Given the description of an element on the screen output the (x, y) to click on. 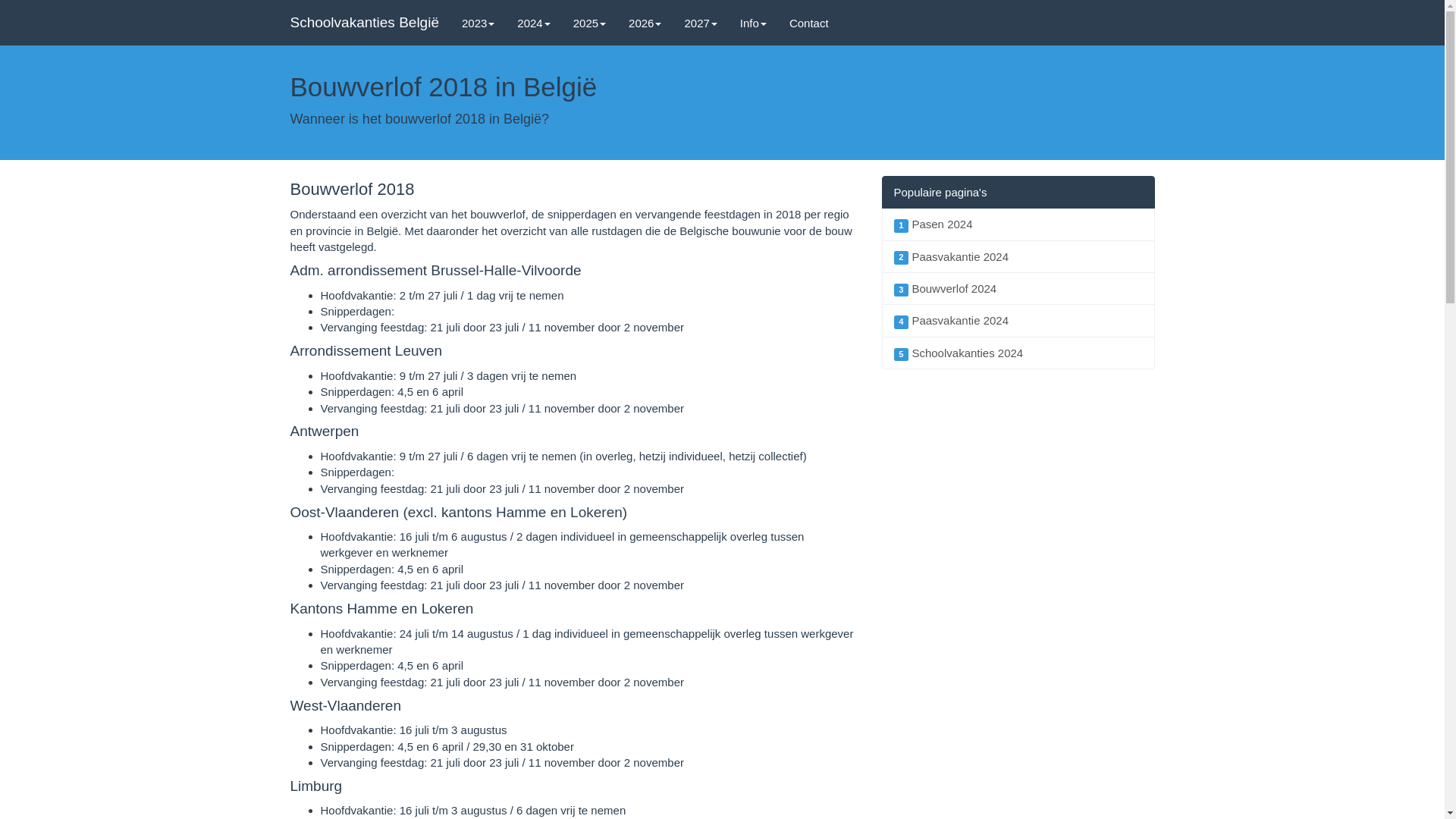
5 Schoolvakanties 2024 Element type: text (1017, 352)
3 Bouwverlof 2024 Element type: text (1017, 288)
2 Paasvakantie 2024 Element type: text (1017, 256)
Contact Element type: text (809, 22)
Info Element type: text (753, 22)
2026 Element type: text (644, 22)
4 Paasvakantie 2024 Element type: text (1017, 320)
2027 Element type: text (700, 22)
2023 Element type: text (477, 22)
2025 Element type: text (589, 22)
2024 Element type: text (533, 22)
1 Pasen 2024 Element type: text (1017, 223)
